Given the description of an element on the screen output the (x, y) to click on. 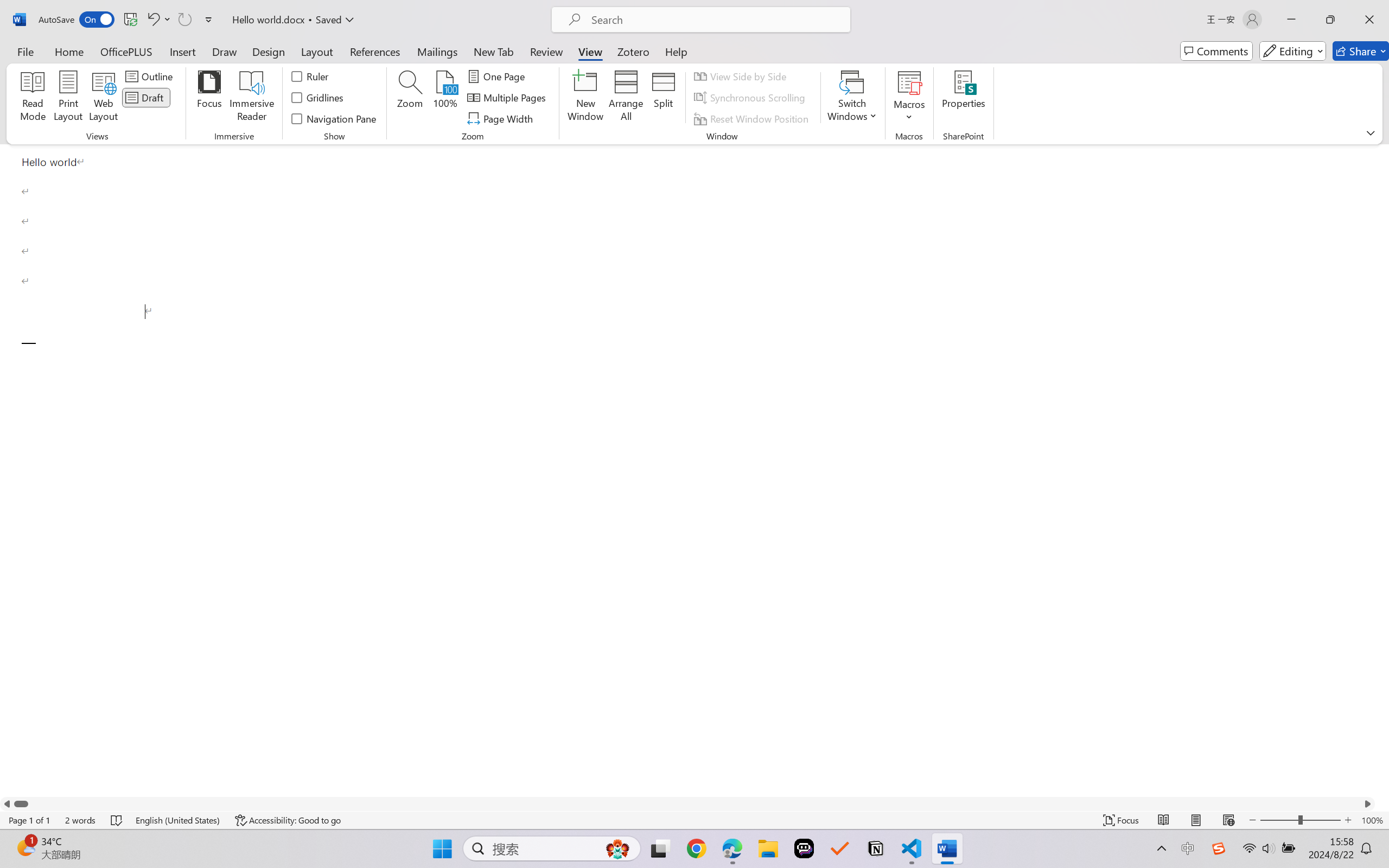
Review (546, 51)
Read Mode (1163, 819)
Focus  (1121, 819)
Mailings (437, 51)
Customize Quick Access Toolbar (208, 19)
Help (675, 51)
Class: MsoCommandBar (694, 819)
Class: NetUIScrollBar (687, 803)
New Window (585, 97)
Layout (316, 51)
Zoom... (409, 97)
Outline (150, 75)
Immersive Reader (251, 97)
